Given the description of an element on the screen output the (x, y) to click on. 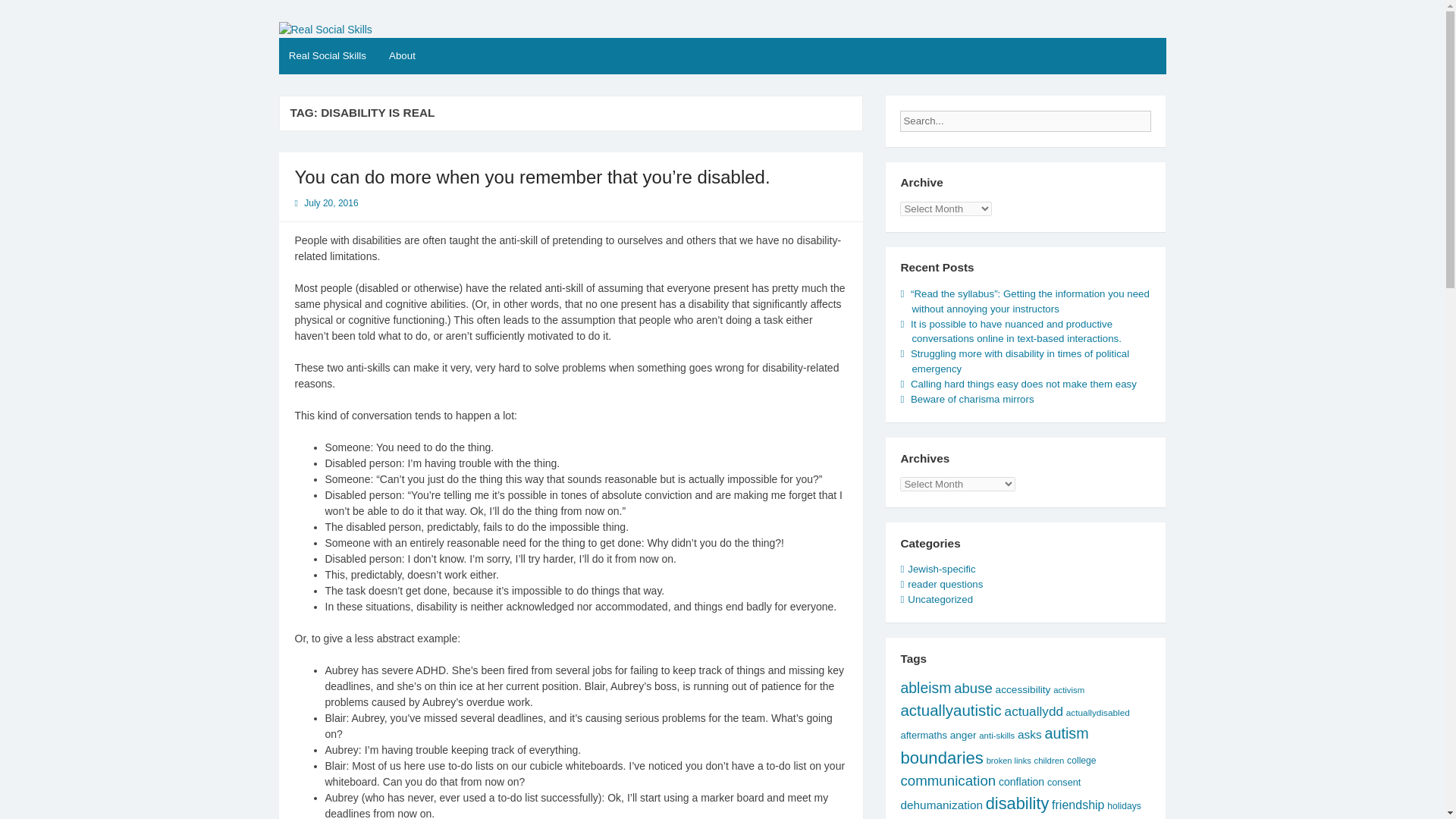
Search (1163, 116)
Search (1163, 116)
About (401, 55)
Search (1163, 116)
July 20, 2016 (331, 203)
Real Social Skills (365, 33)
Real Social Skills (328, 55)
